Given the description of an element on the screen output the (x, y) to click on. 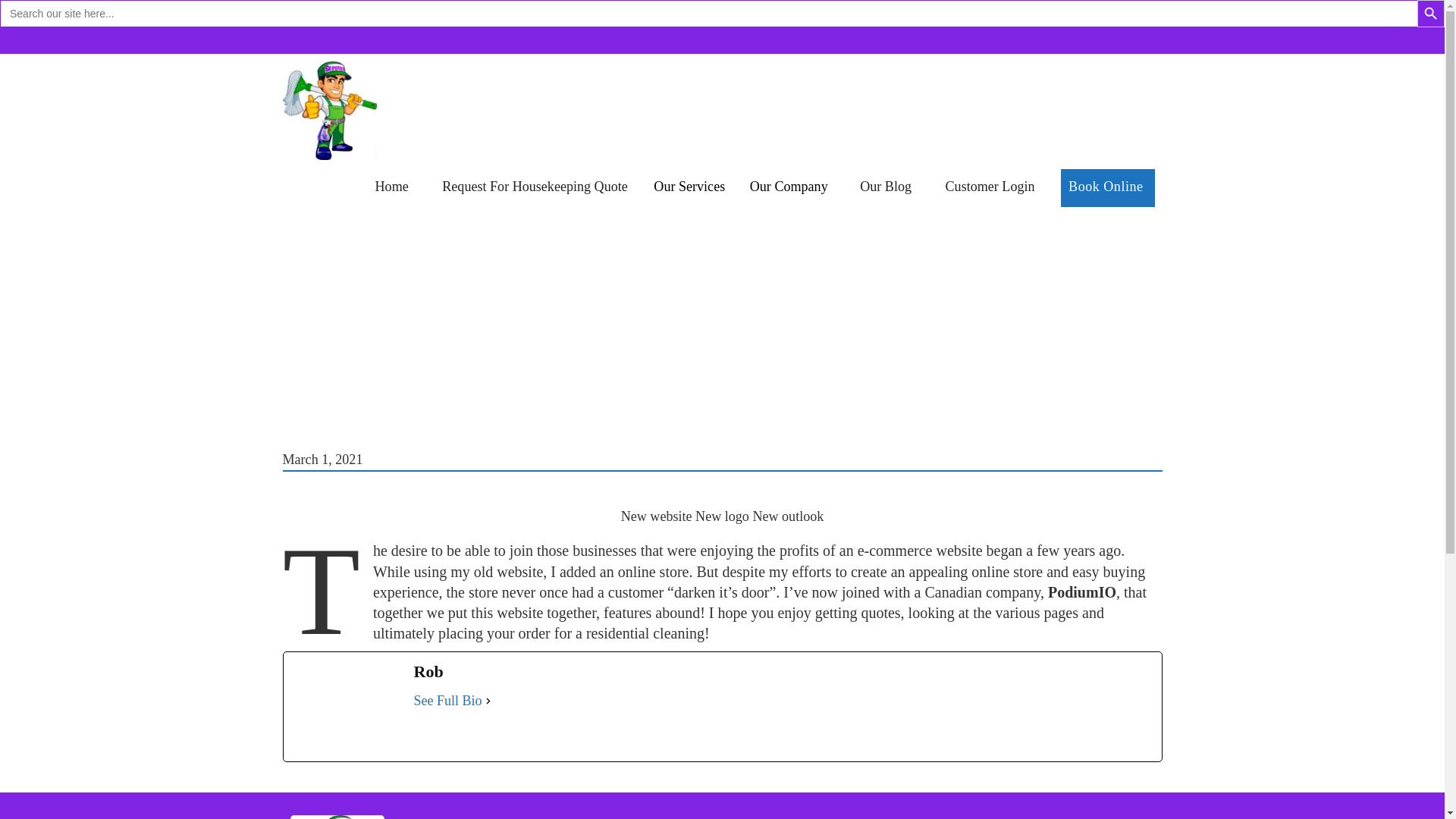
Home (391, 187)
Our Services (689, 187)
Customer Login (989, 187)
Book Online (1107, 187)
Our Blog (885, 187)
Request For Housekeeping Quote (534, 187)
Our Company (788, 187)
